Given the description of an element on the screen output the (x, y) to click on. 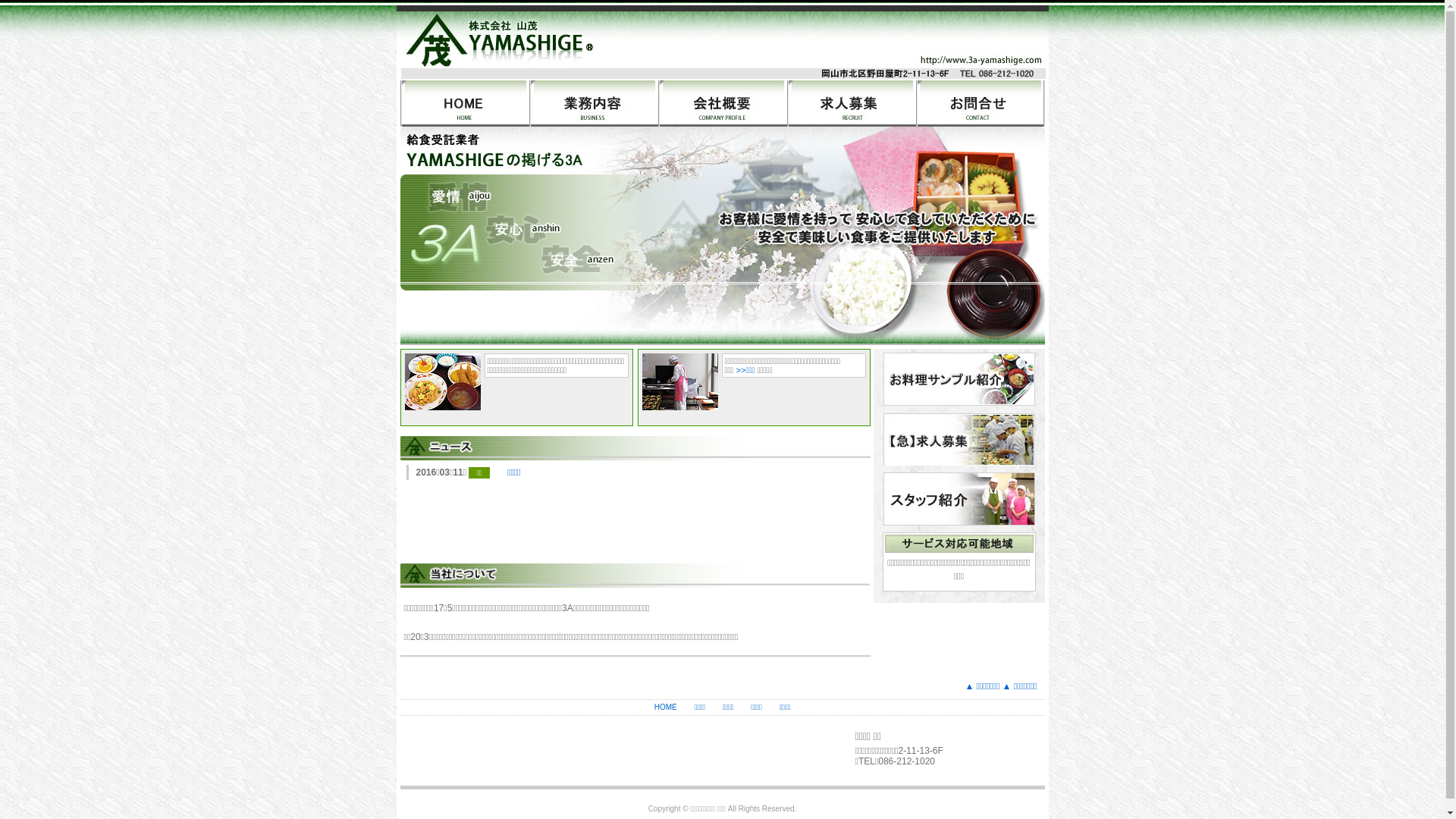
HOME Element type: text (665, 706)
